Given the description of an element on the screen output the (x, y) to click on. 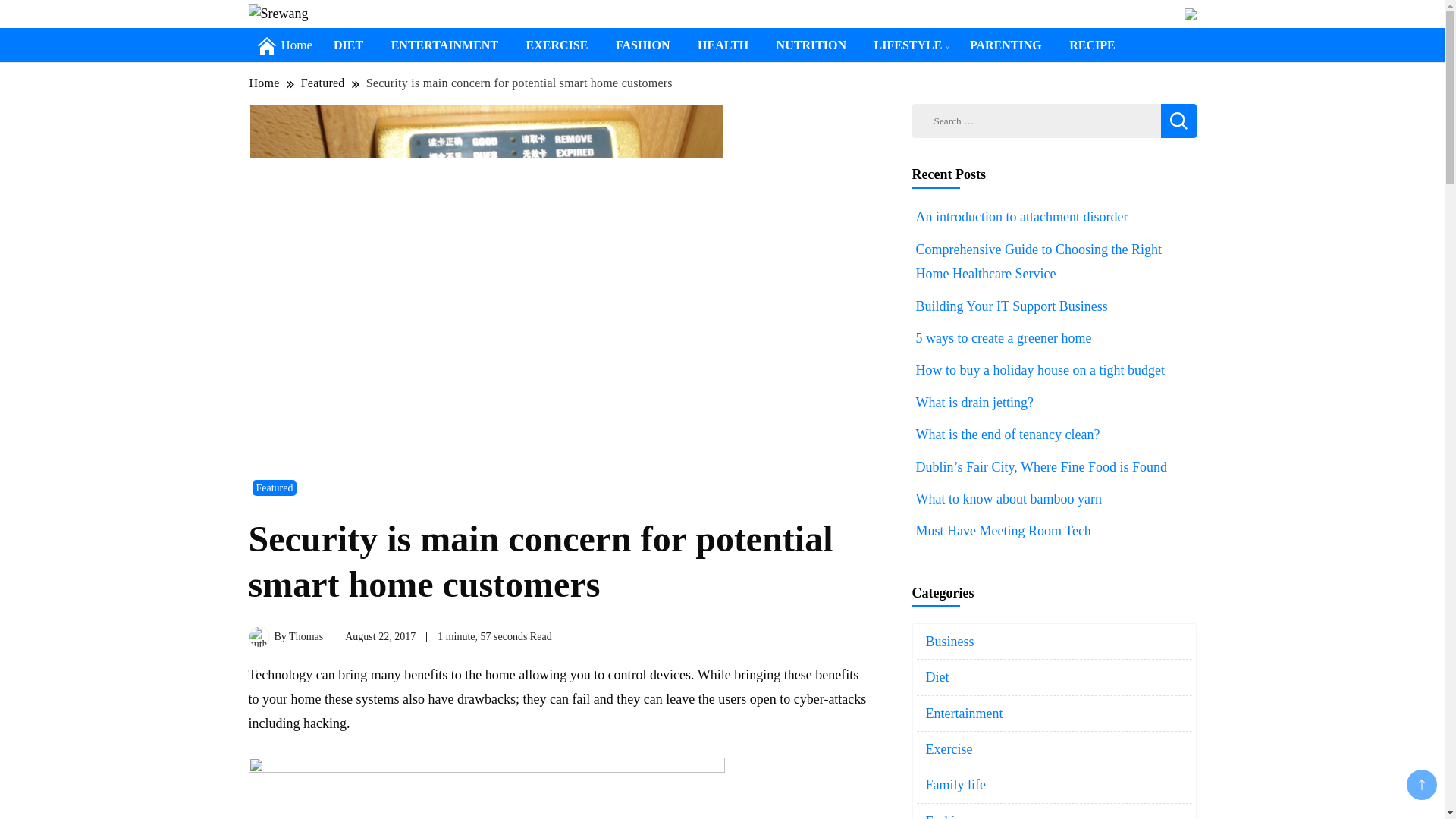
Featured (274, 487)
PARENTING (1006, 44)
Security is main concern for potential smart home customers (518, 83)
Search (1177, 121)
LIFESTYLE (908, 44)
DIET (348, 44)
HEALTH (722, 44)
Search (1177, 121)
Srewang (349, 30)
EXERCISE (556, 44)
